Given the description of an element on the screen output the (x, y) to click on. 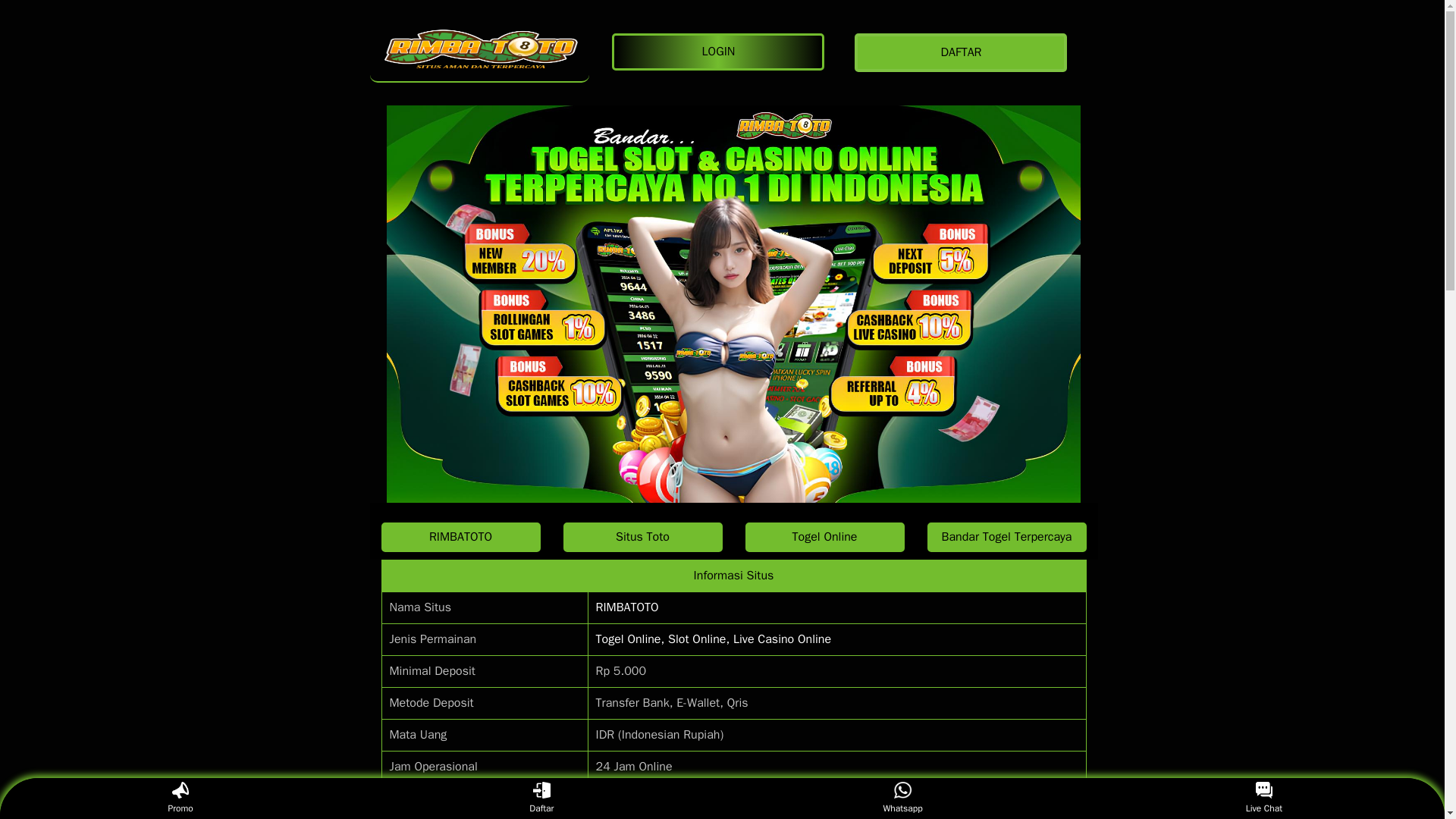
Situs Toto (642, 537)
Bandar Togel Terpercaya (1006, 537)
Bandar Togel Terpercaya (1006, 537)
RIMBATOTO (479, 52)
LOGIN (721, 51)
DAFTAR (964, 52)
Live Chat (1263, 797)
Togel Online, Slot Online, Live Casino Online (713, 639)
Situs Toto (642, 537)
RIMBATOTO (627, 607)
